Given the description of an element on the screen output the (x, y) to click on. 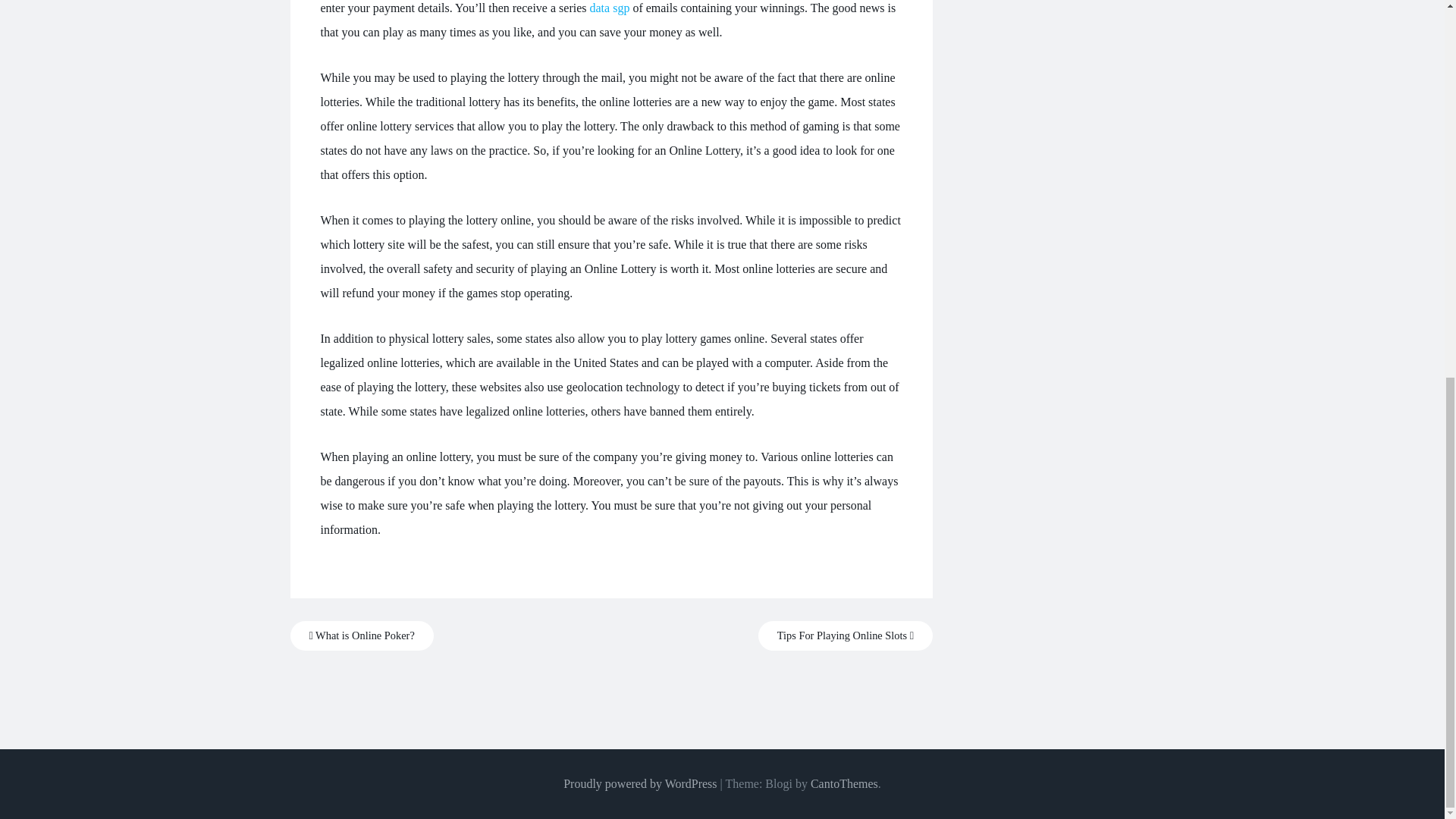
CantoThemes (843, 783)
Tips For Playing Online Slots (845, 635)
data sgp (609, 7)
Proudly powered by WordPress (639, 783)
What is Online Poker? (360, 635)
